Given the description of an element on the screen output the (x, y) to click on. 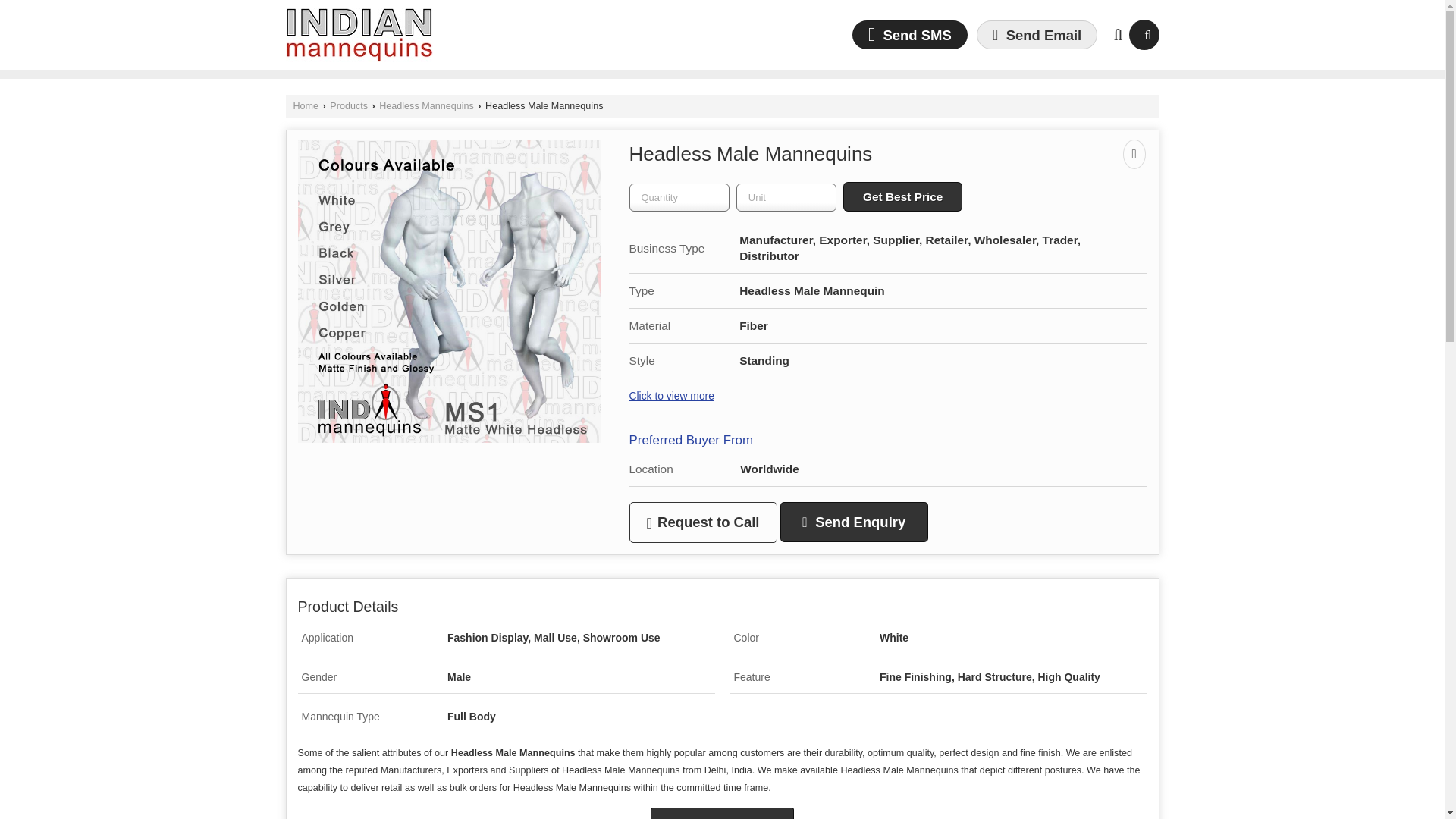
Send Email (1036, 34)
Indo Mannequins (358, 34)
Send SMS (909, 34)
Products (349, 105)
Headless Mannequins (426, 105)
Search (1143, 34)
Home (305, 105)
